Given the description of an element on the screen output the (x, y) to click on. 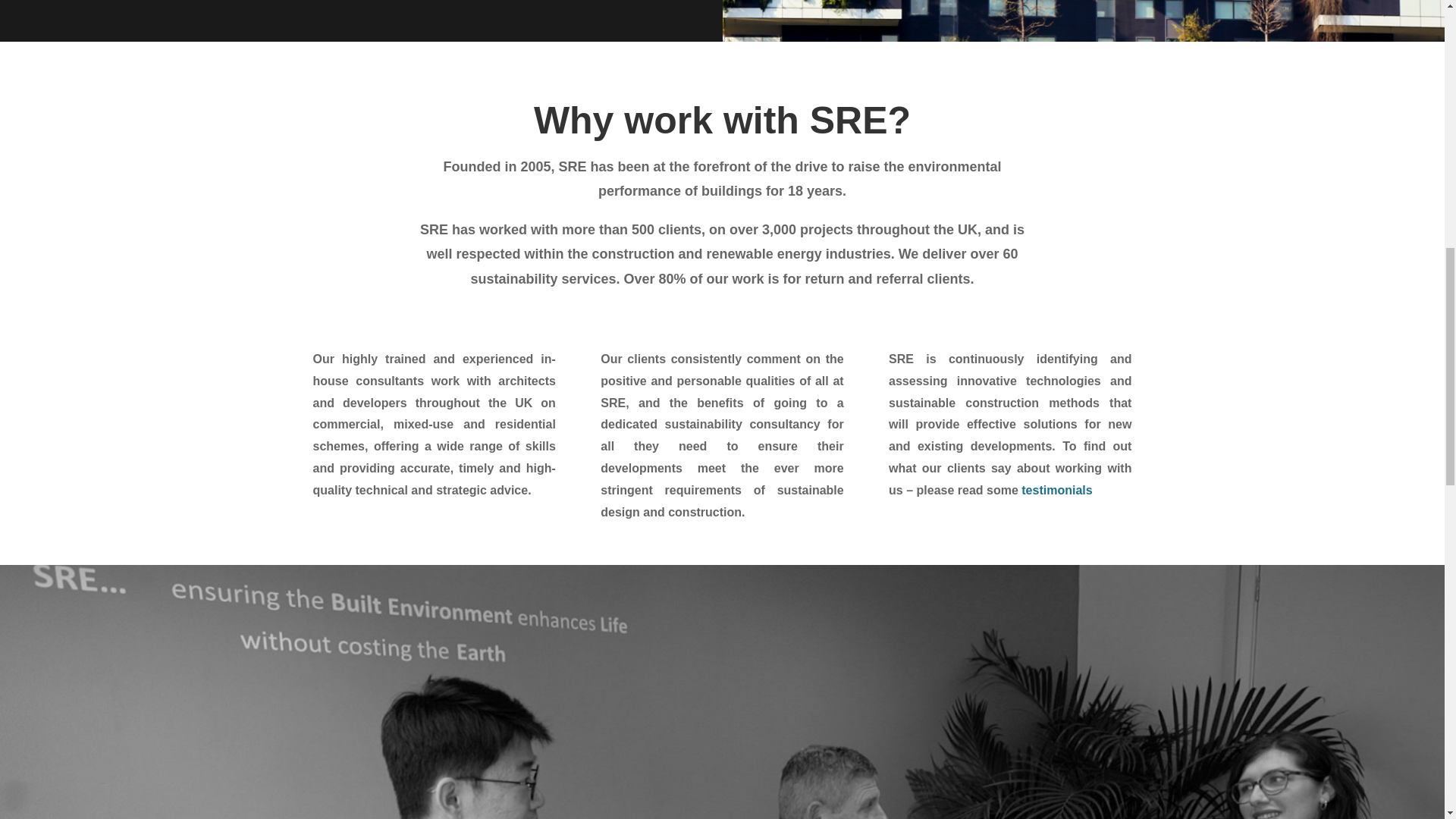
testimonials (1057, 490)
